Given the description of an element on the screen output the (x, y) to click on. 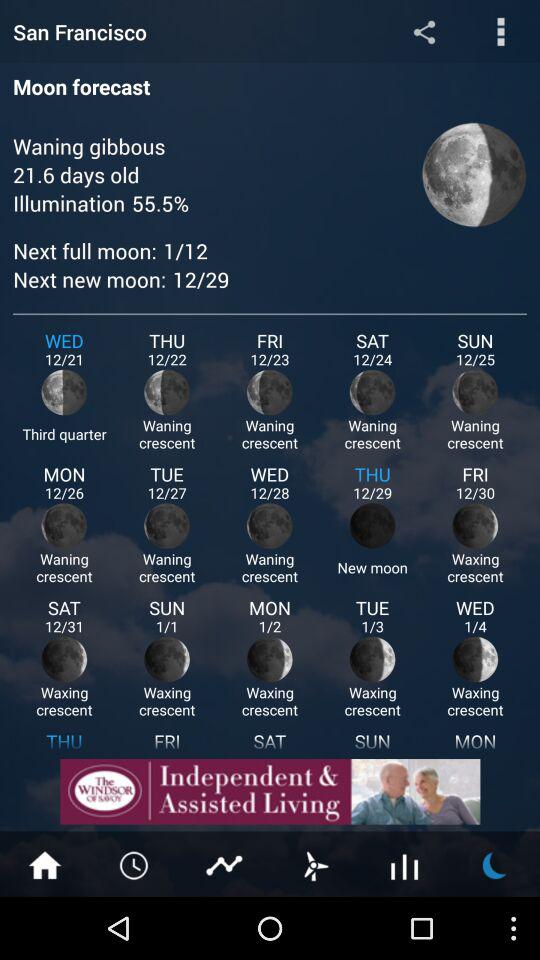
go to the homepage (45, 864)
